Given the description of an element on the screen output the (x, y) to click on. 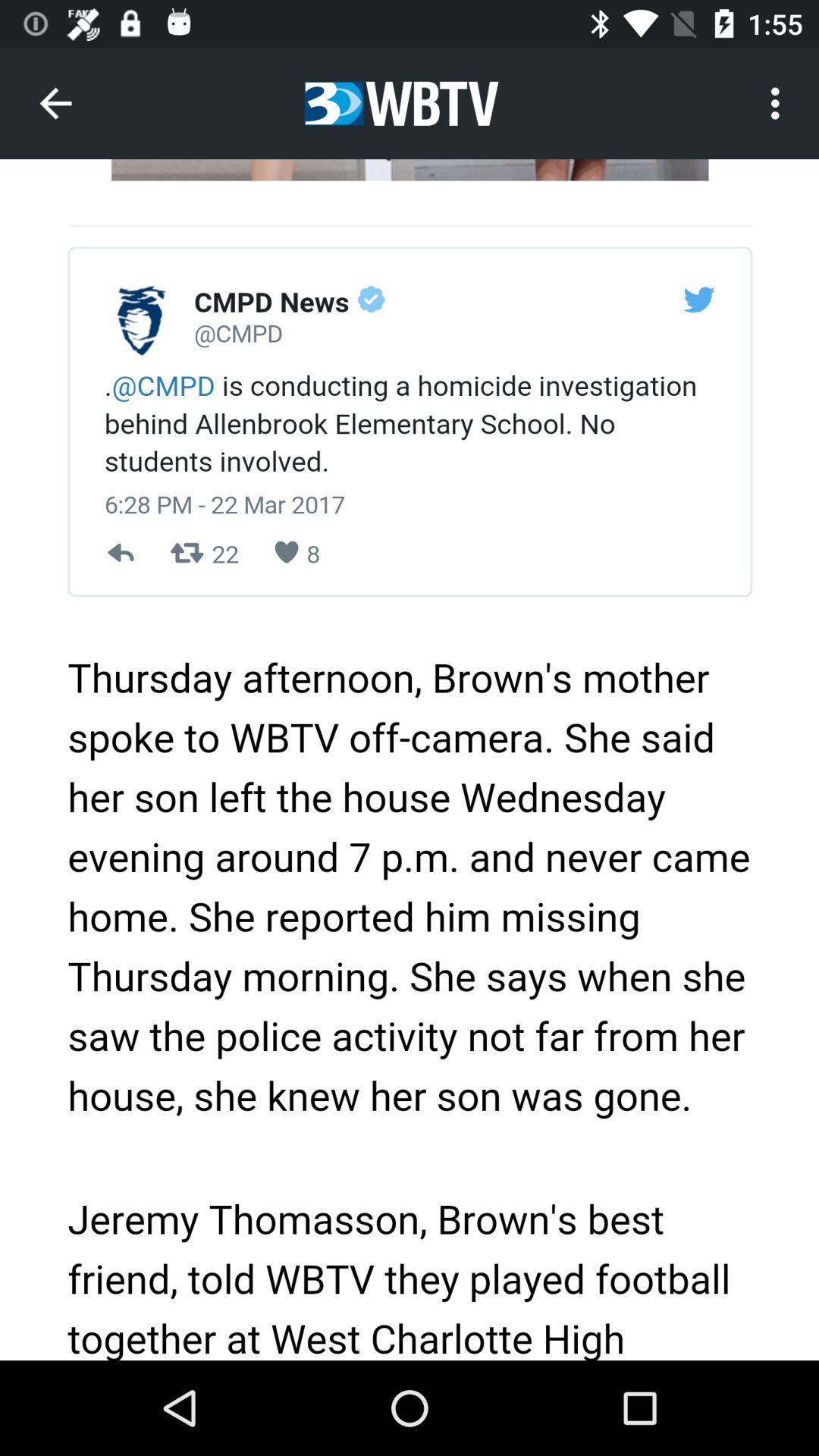
twitter page (409, 759)
